Given the description of an element on the screen output the (x, y) to click on. 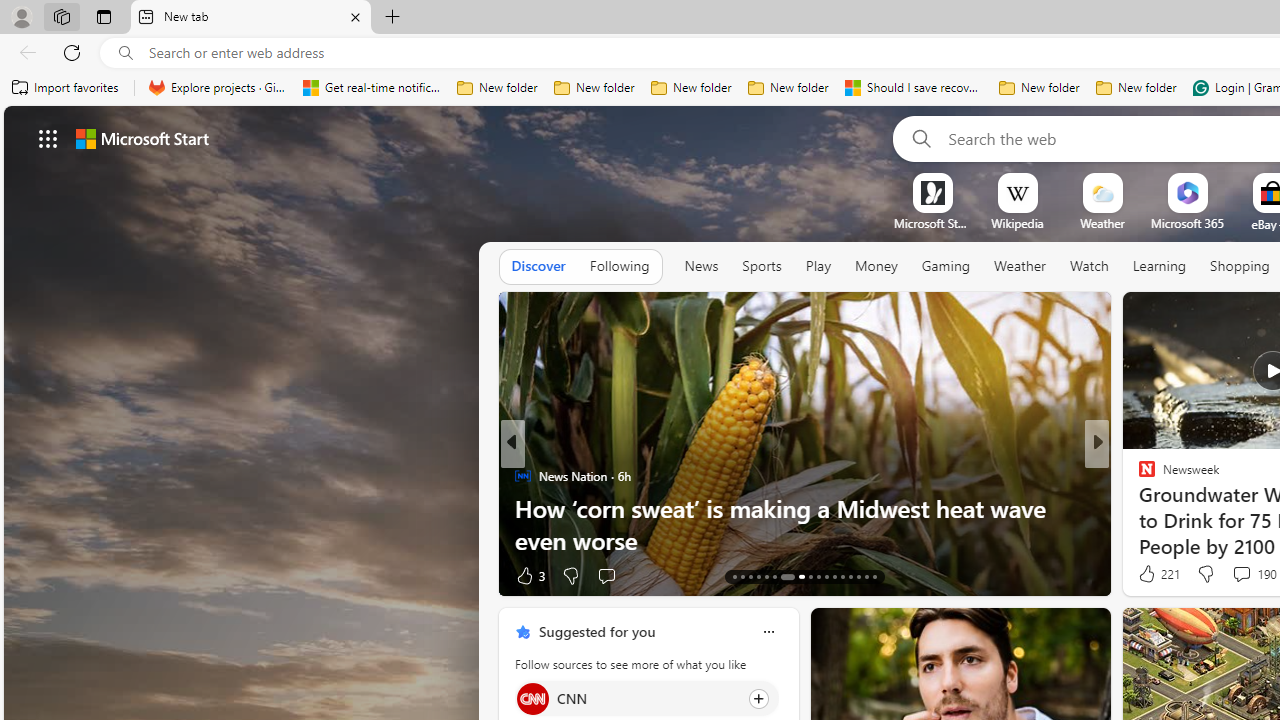
12 Like (1149, 574)
Gaming (945, 265)
View comments 174 Comment (1247, 574)
Hide this story (1050, 632)
Start the conversation (1222, 574)
AutomationID: tab-21 (810, 576)
Watch (1089, 265)
Play (817, 265)
Weather (1020, 265)
AutomationID: tab-28 (865, 576)
AutomationID: tab-15 (750, 576)
Start the conversation (1222, 575)
View comments 1 Comment (1234, 574)
Microsoft Start Gaming (932, 223)
AutomationID: tab-17 (765, 576)
